Given the description of an element on the screen output the (x, y) to click on. 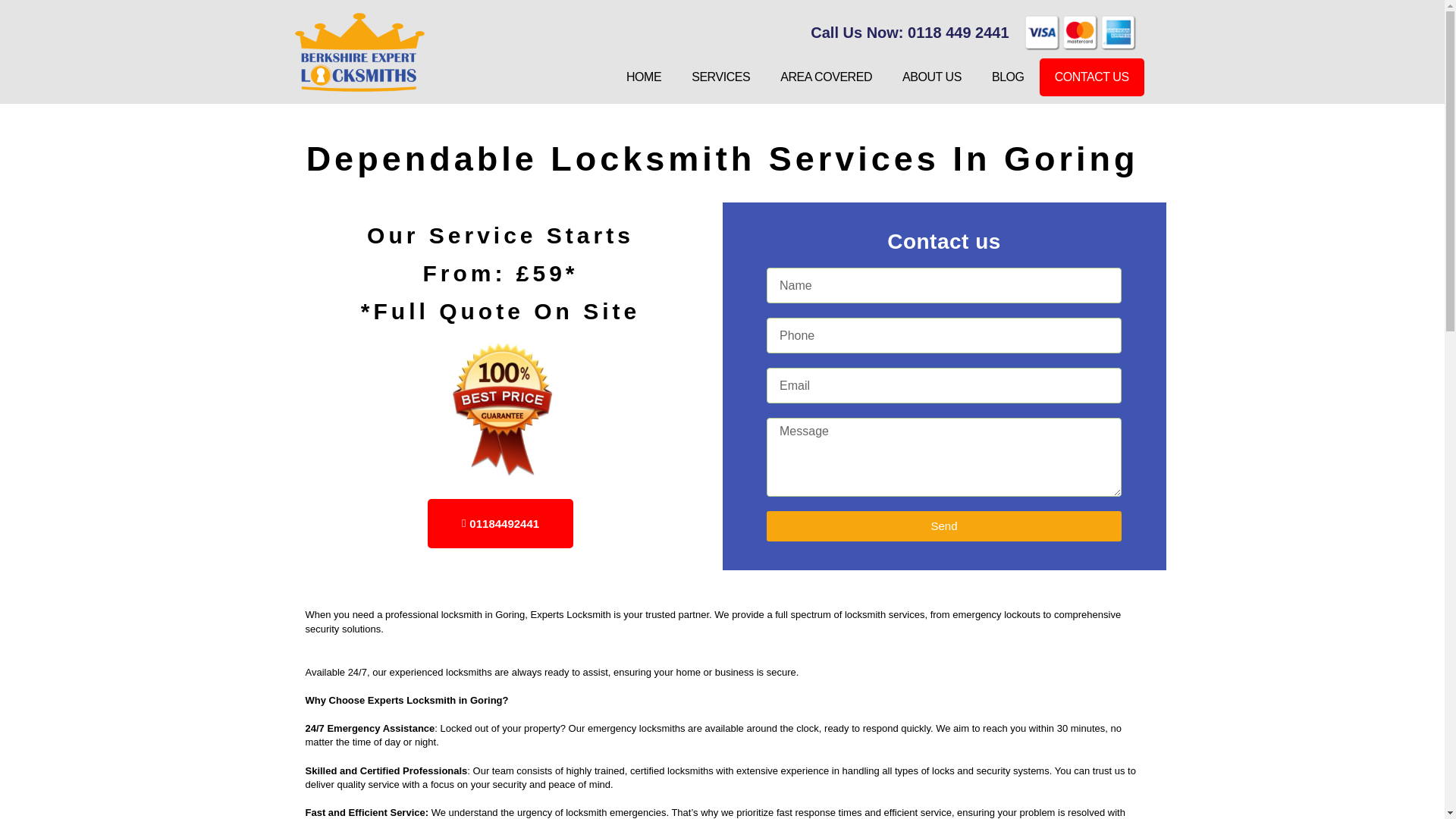
HOME (644, 77)
Call Us Now: 0118 449 2441 (726, 33)
CONTACT US (1091, 77)
ABOUT US (931, 77)
SERVICES (721, 77)
BLOG (1007, 77)
AREA COVERED (825, 77)
